Given the description of an element on the screen output the (x, y) to click on. 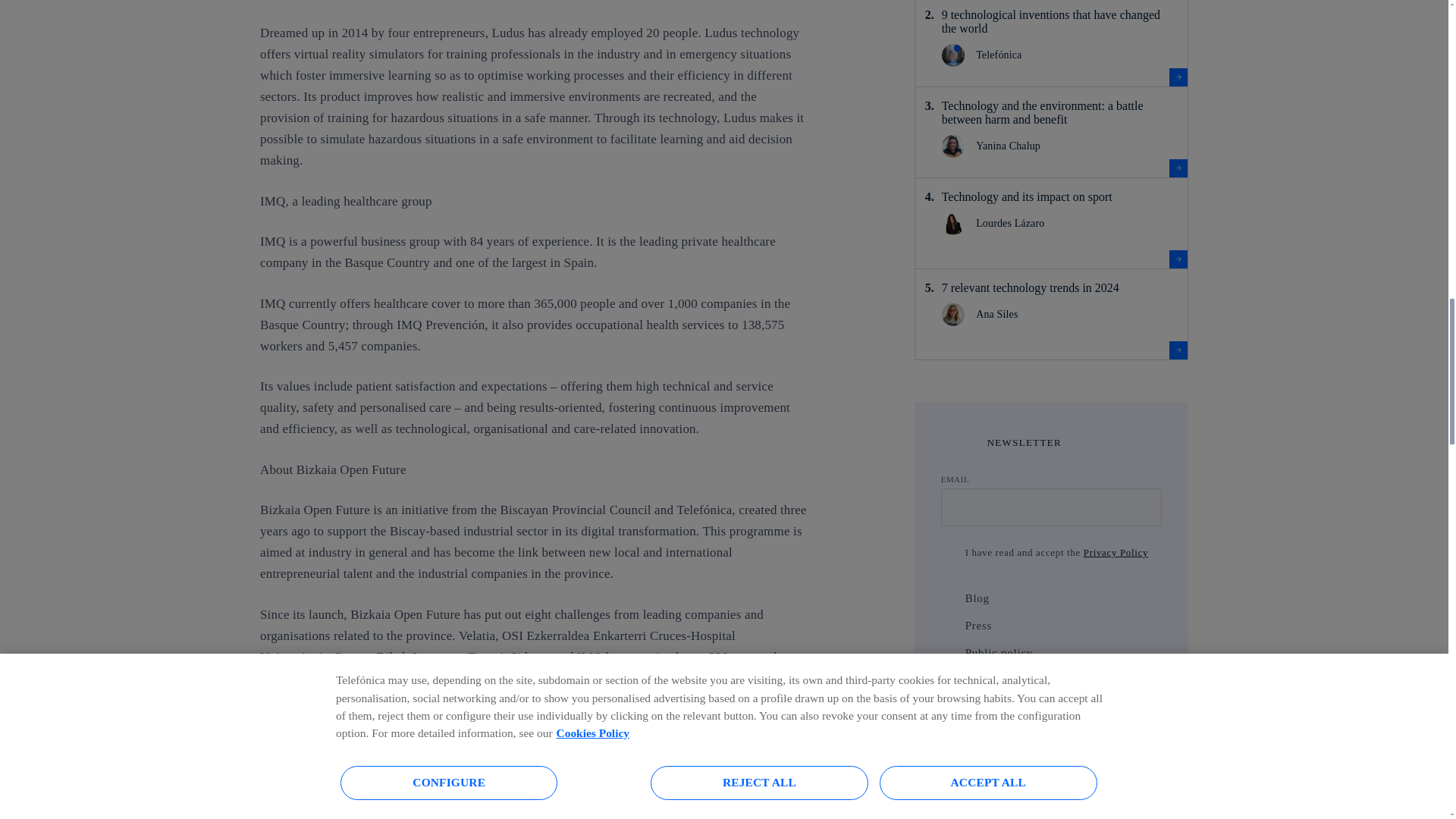
Public policy (948, 652)
Shareholder's area (948, 707)
ESG Investors (948, 734)
on (948, 552)
Blog (948, 598)
Investor relations (948, 679)
Press (948, 625)
